Given the description of an element on the screen output the (x, y) to click on. 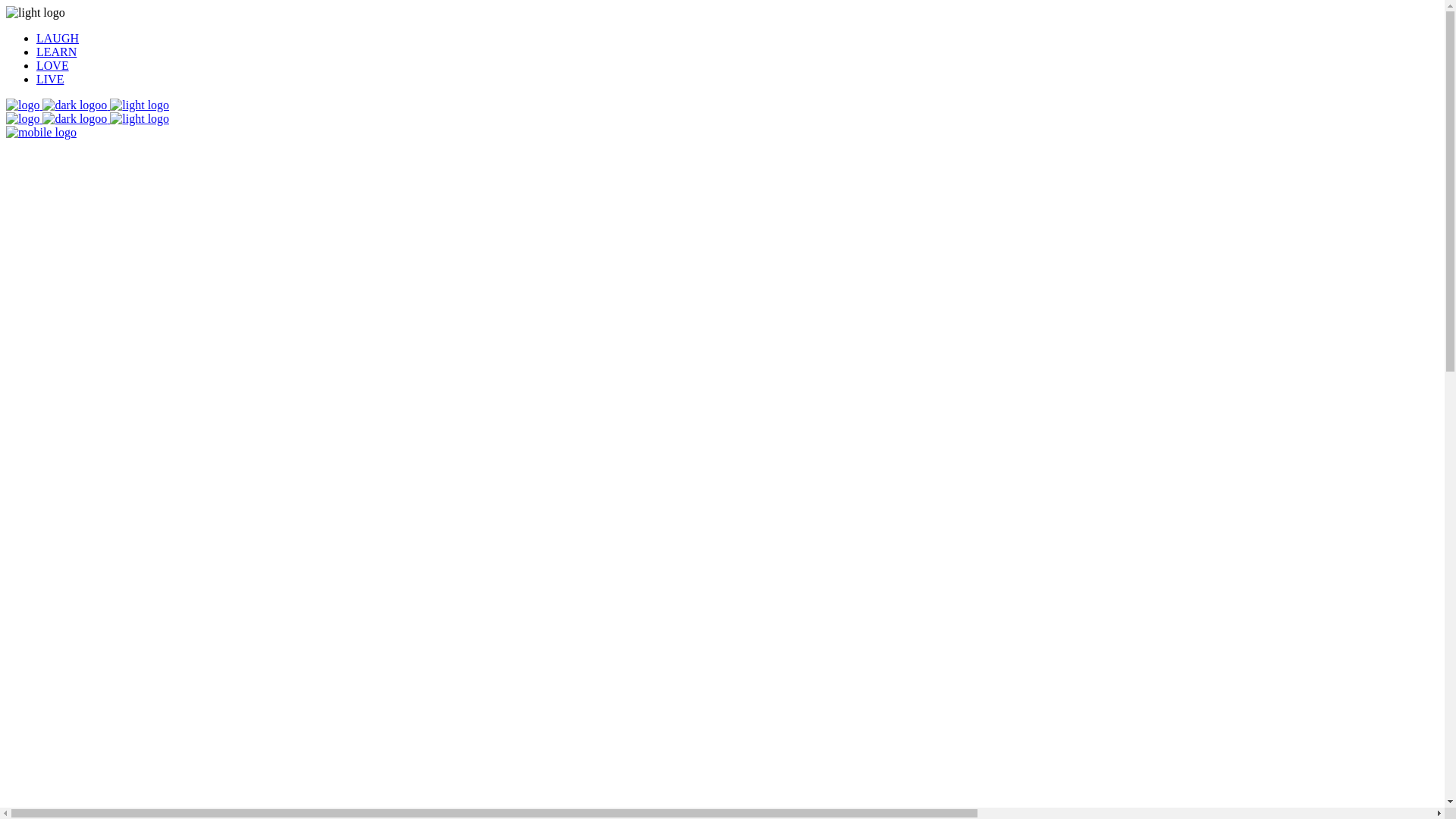
LIVE Element type: text (49, 78)
LOVE Element type: text (52, 65)
LEARN Element type: text (56, 51)
LAUGH Element type: text (57, 37)
